Given the description of an element on the screen output the (x, y) to click on. 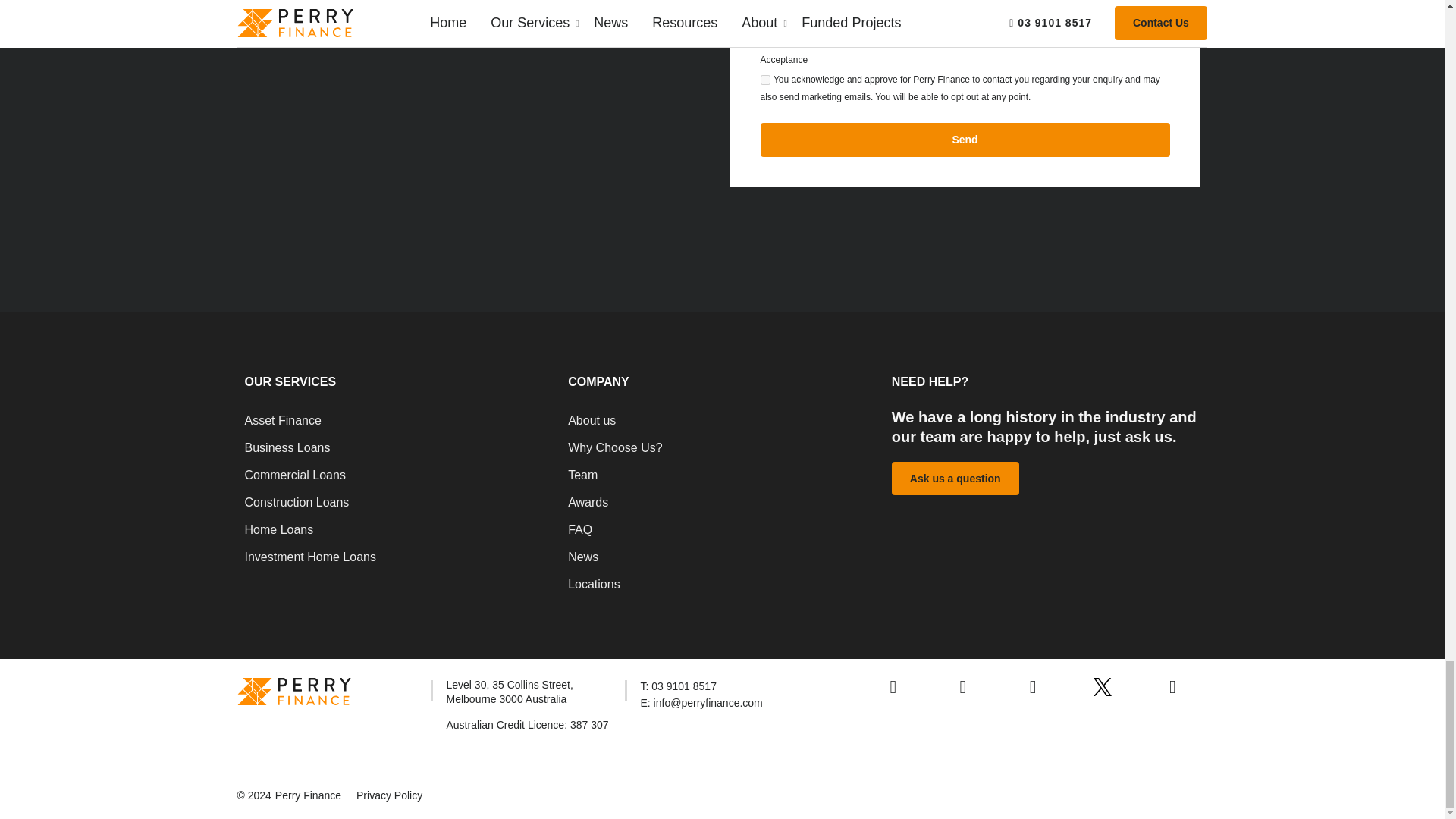
Locations (721, 592)
on (765, 80)
